Given the description of an element on the screen output the (x, y) to click on. 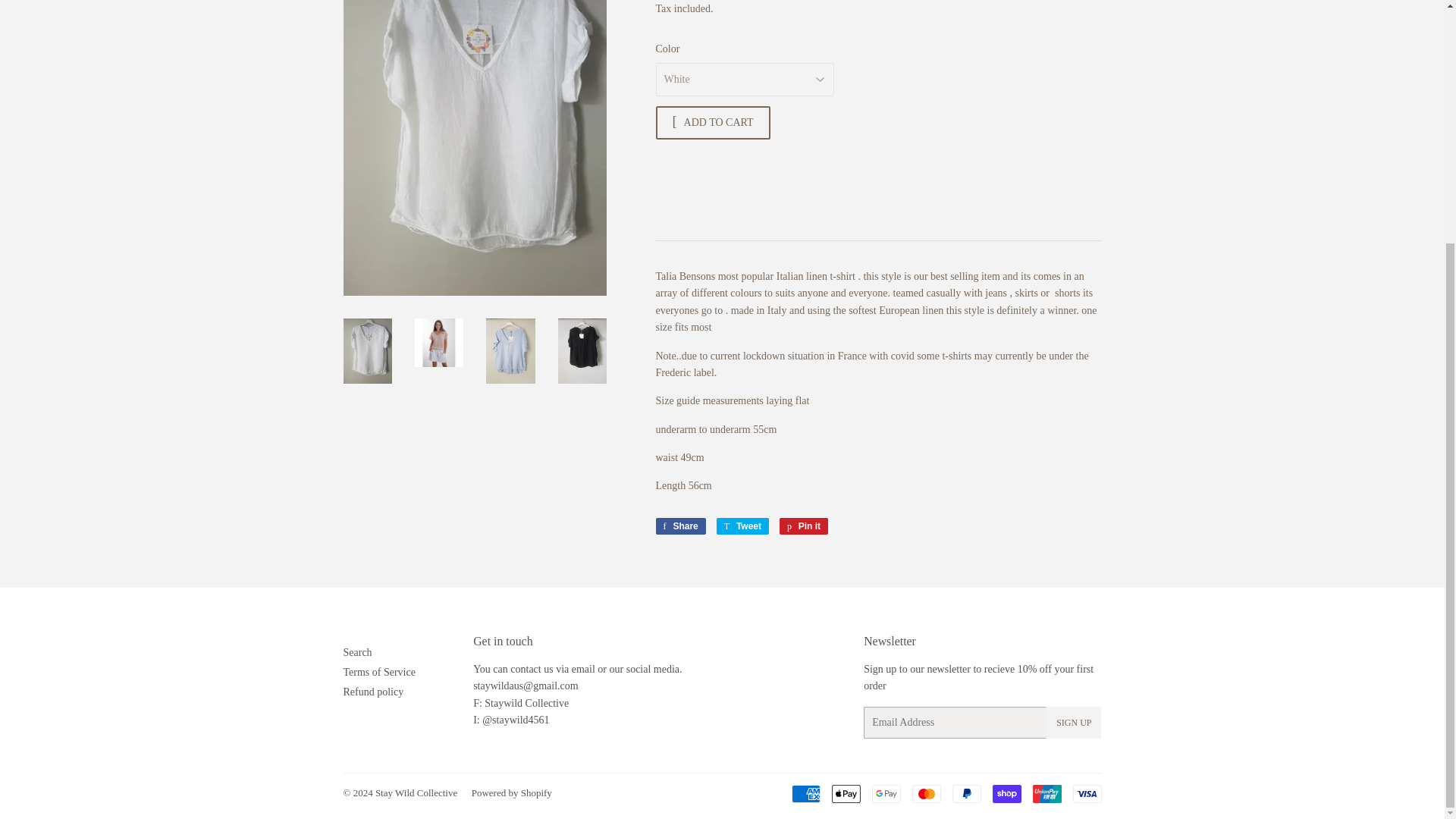
Union Pay (1046, 793)
Tweet on Twitter (742, 525)
Pin on Pinterest (803, 525)
Shop Pay (1005, 793)
American Express (806, 793)
Mastercard (925, 793)
Apple Pay (845, 793)
Google Pay (886, 793)
Share on Facebook (679, 525)
PayPal (966, 793)
